Given the description of an element on the screen output the (x, y) to click on. 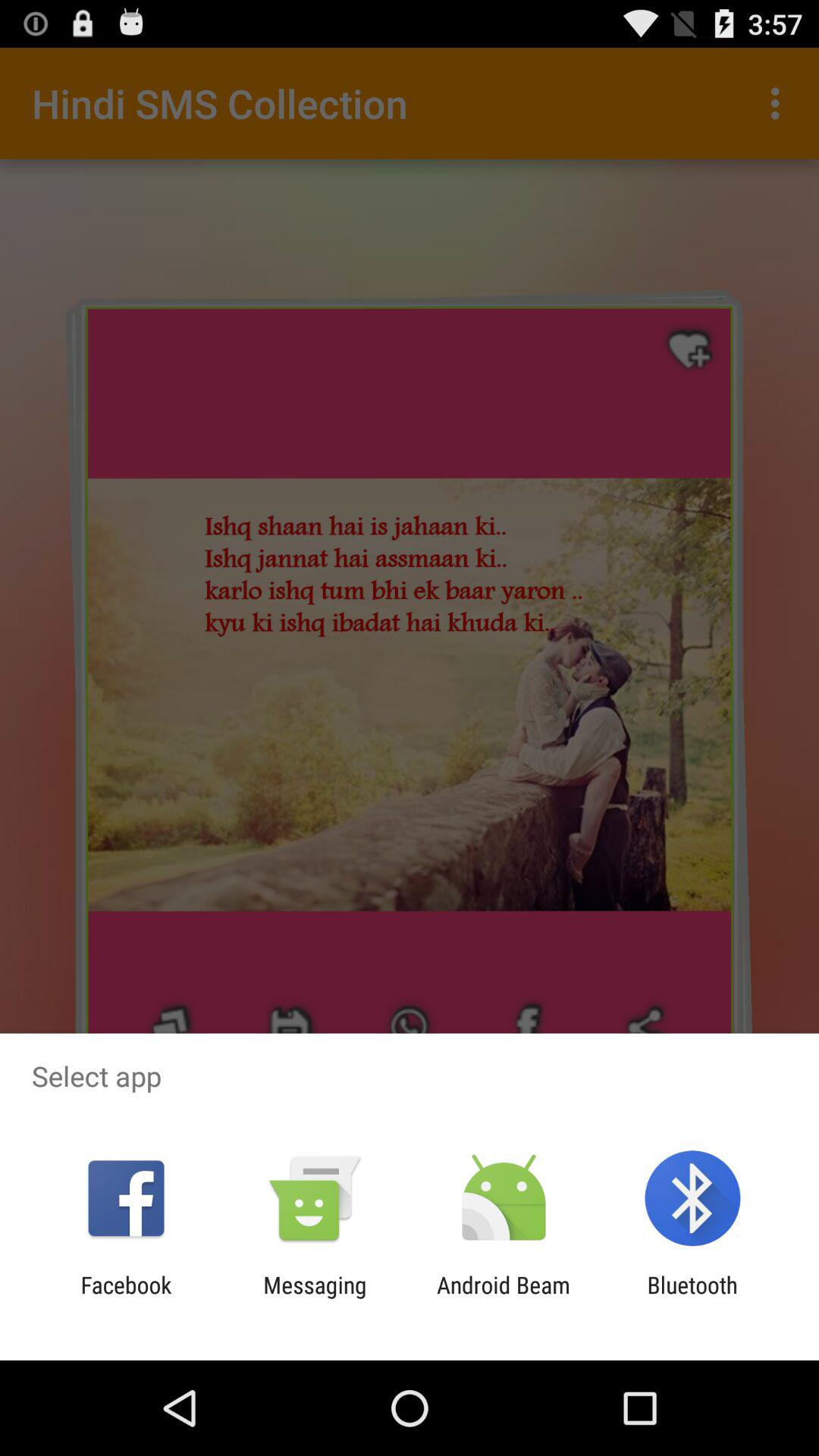
tap the icon next to messaging (125, 1298)
